Given the description of an element on the screen output the (x, y) to click on. 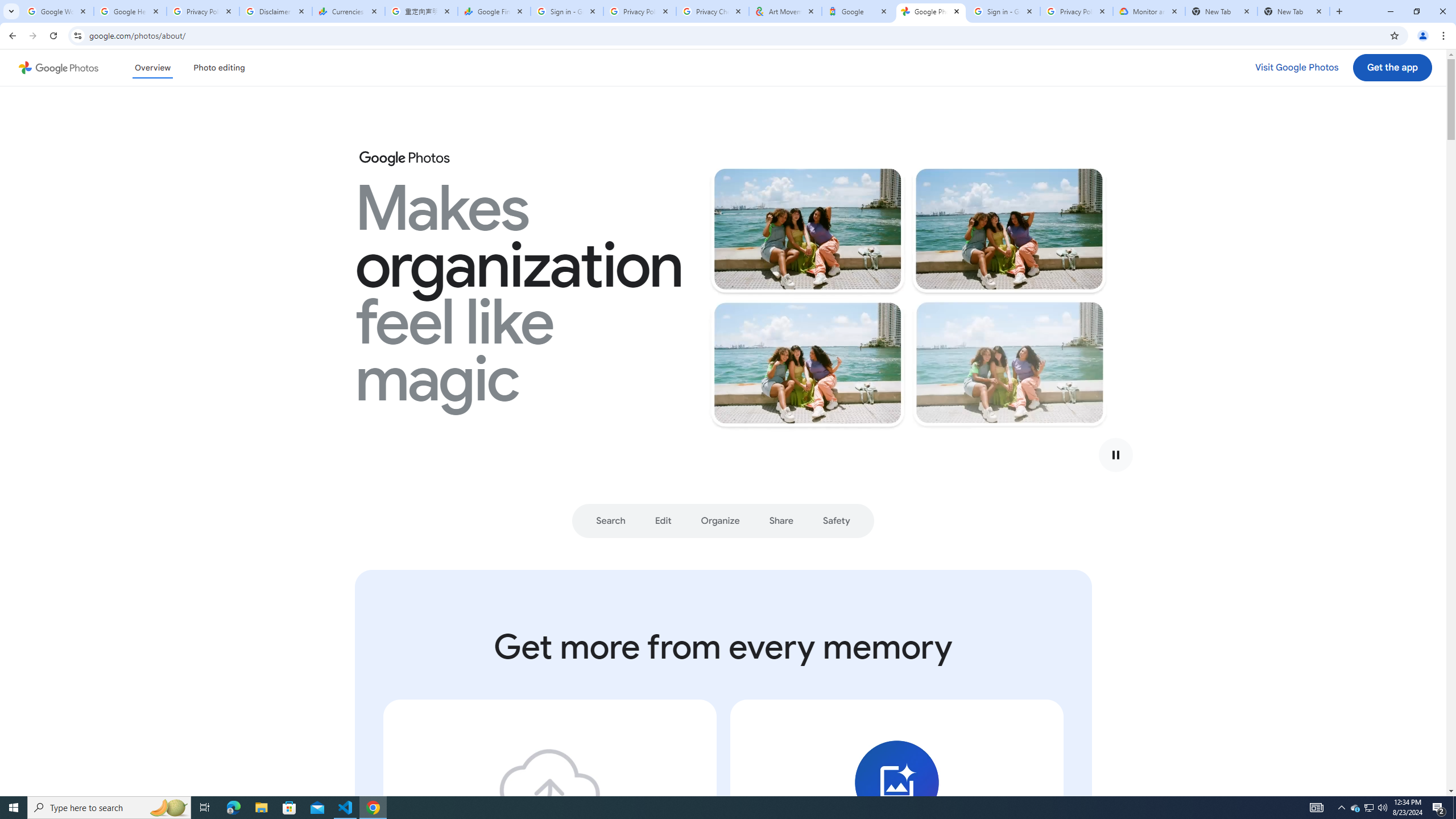
Go to section: Safety (836, 520)
Go to section: Search (610, 520)
Visit the photo editing page (218, 67)
